Given the description of an element on the screen output the (x, y) to click on. 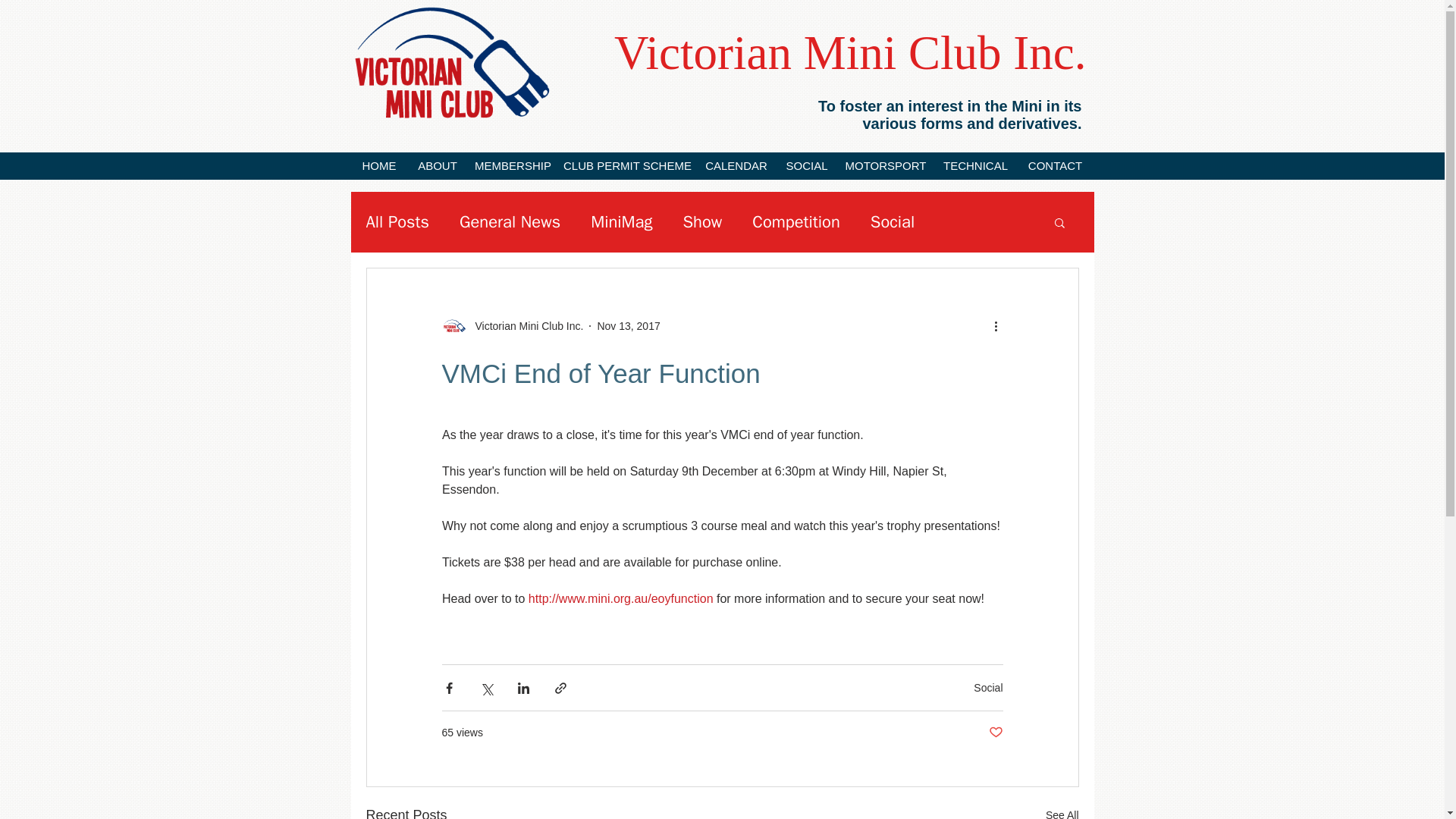
TECHNICAL (975, 165)
MEMBERSHIP (512, 165)
Victorian Mini Club Inc. (448, 64)
Nov 13, 2017 (627, 326)
ABOUT (437, 165)
MOTORSPORT (885, 165)
HOME (378, 165)
CALENDAR (735, 165)
Victorian Mini Club Inc. (524, 326)
SOCIAL (807, 165)
CLUB PERMIT SCHEME (626, 165)
